Given the description of an element on the screen output the (x, y) to click on. 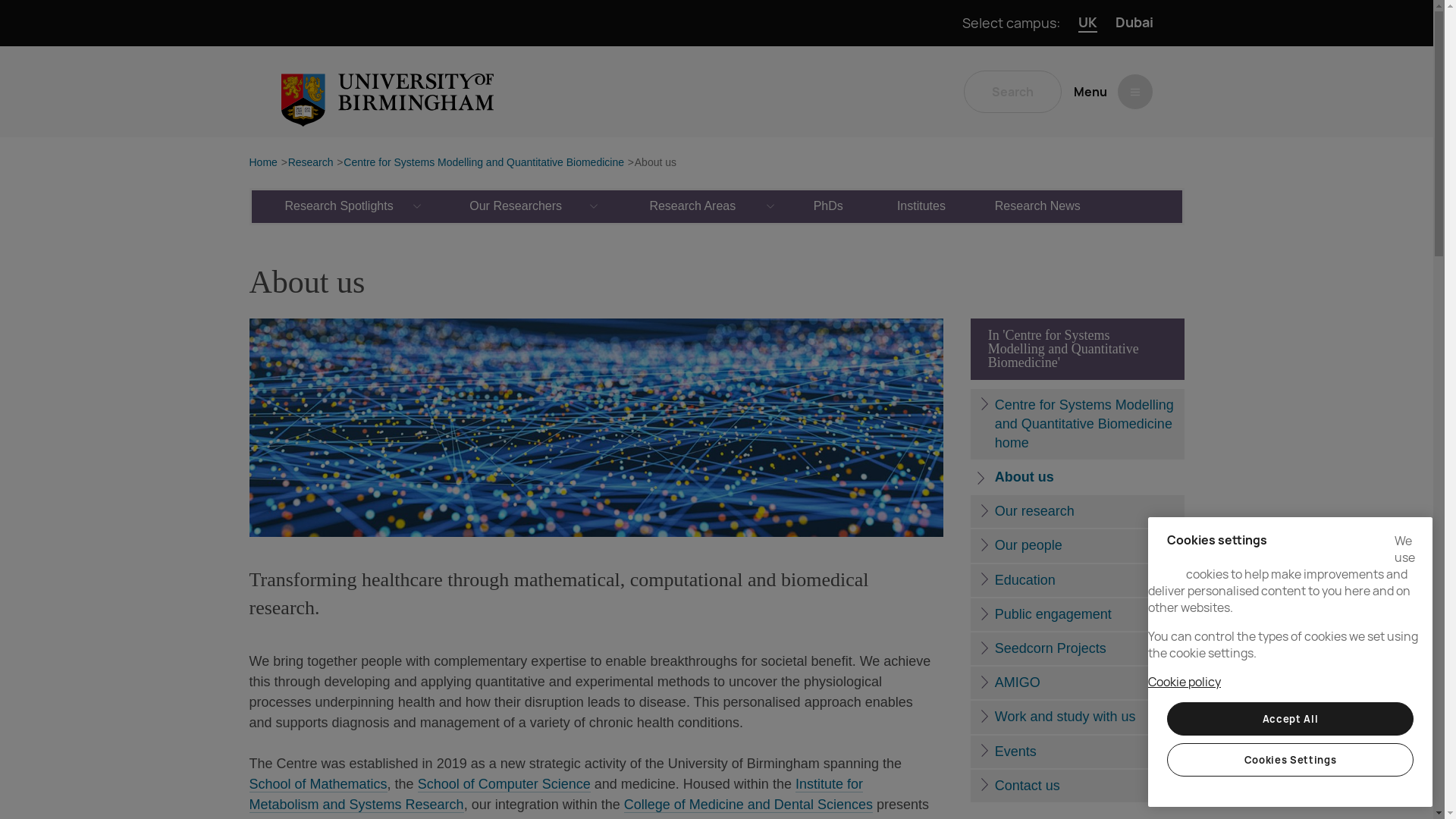
Search (1012, 91)
Research (310, 163)
Research Areas (693, 205)
Our Researchers (516, 205)
About us (655, 163)
Research Spotlights (339, 205)
Dubai (1134, 23)
UK (1087, 23)
Home (262, 163)
Centre for Systems Modelling and Quantitative Biomedicine (483, 163)
